Given the description of an element on the screen output the (x, y) to click on. 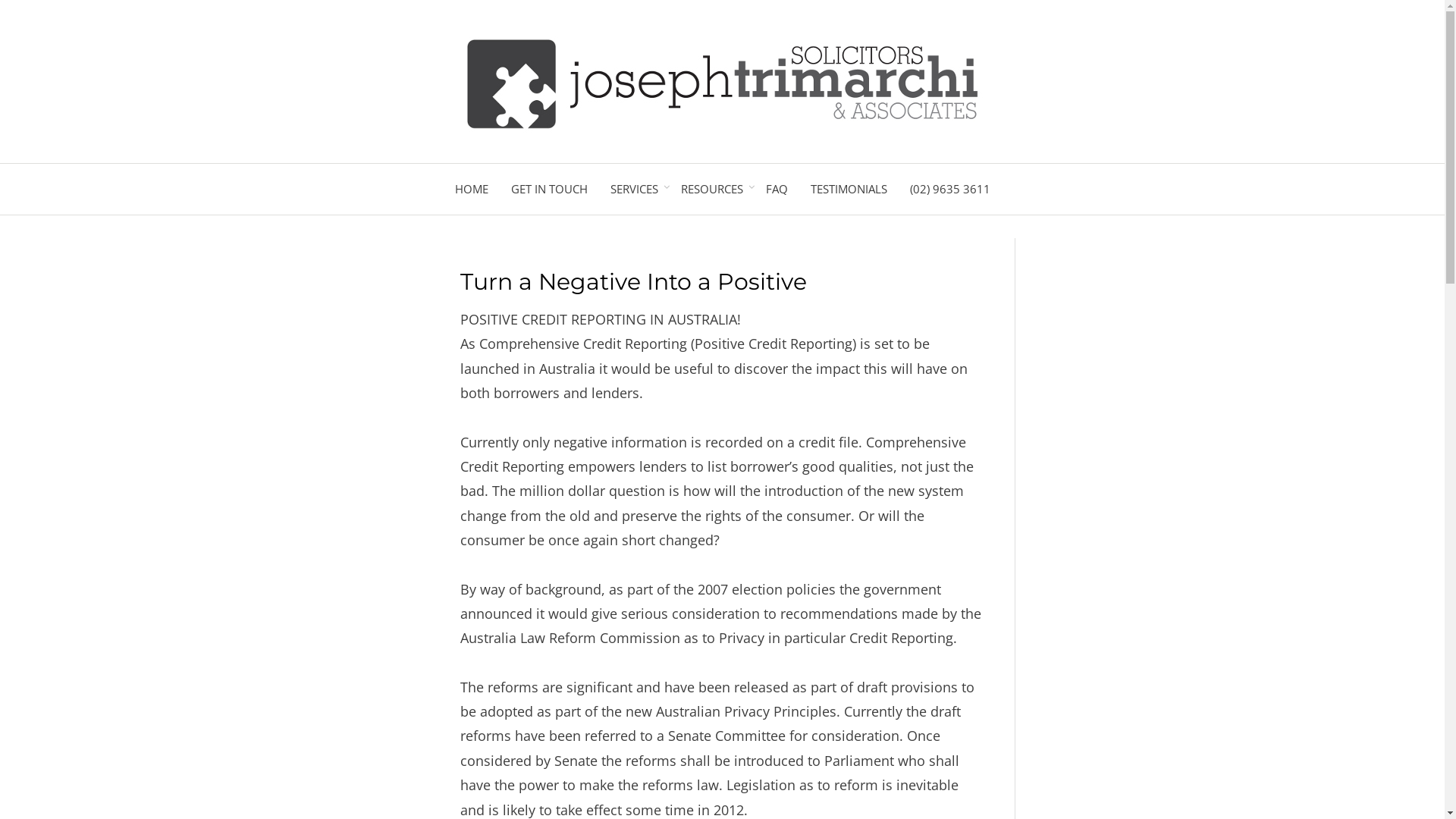
HOME Element type: text (470, 188)
JOSEPHTRIMARCHI Element type: text (1001, 167)
TESTIMONIALS Element type: text (848, 188)
(02) 9635 3611 Element type: text (949, 188)
FAQ Element type: text (775, 188)
SERVICES Element type: text (634, 188)
RESOURCES Element type: text (710, 188)
GET IN TOUCH Element type: text (548, 188)
